Given the description of an element on the screen output the (x, y) to click on. 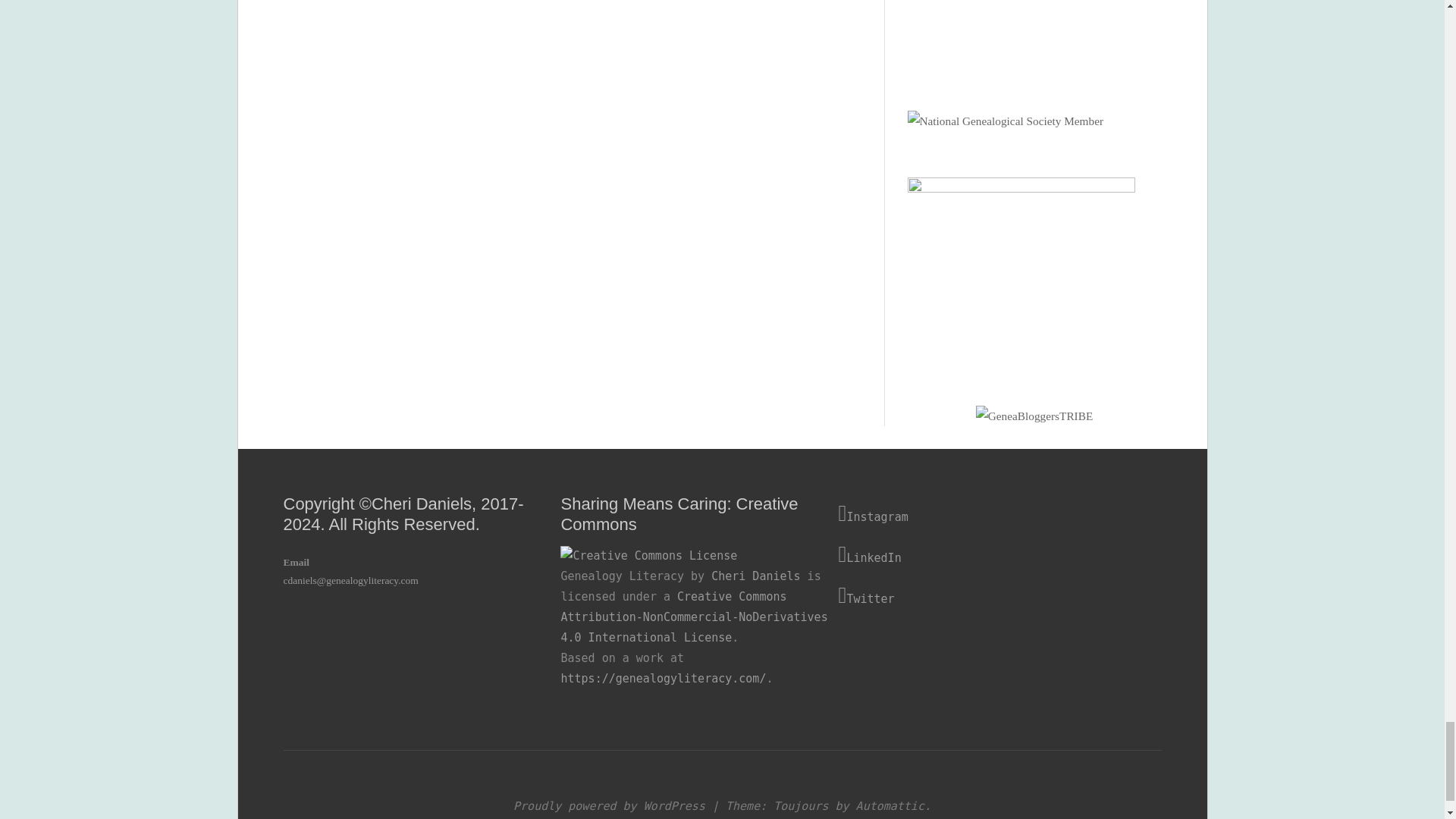
GeneaBloggersTRIBE (1034, 415)
Visit Genealogy Literacy on LinkedIn (976, 555)
Visit Genealogy Literacy on Instagram (976, 514)
Visit Genealogy Literacy on Twitter (976, 596)
National Genealogical Society Member (1005, 120)
